Given the description of an element on the screen output the (x, y) to click on. 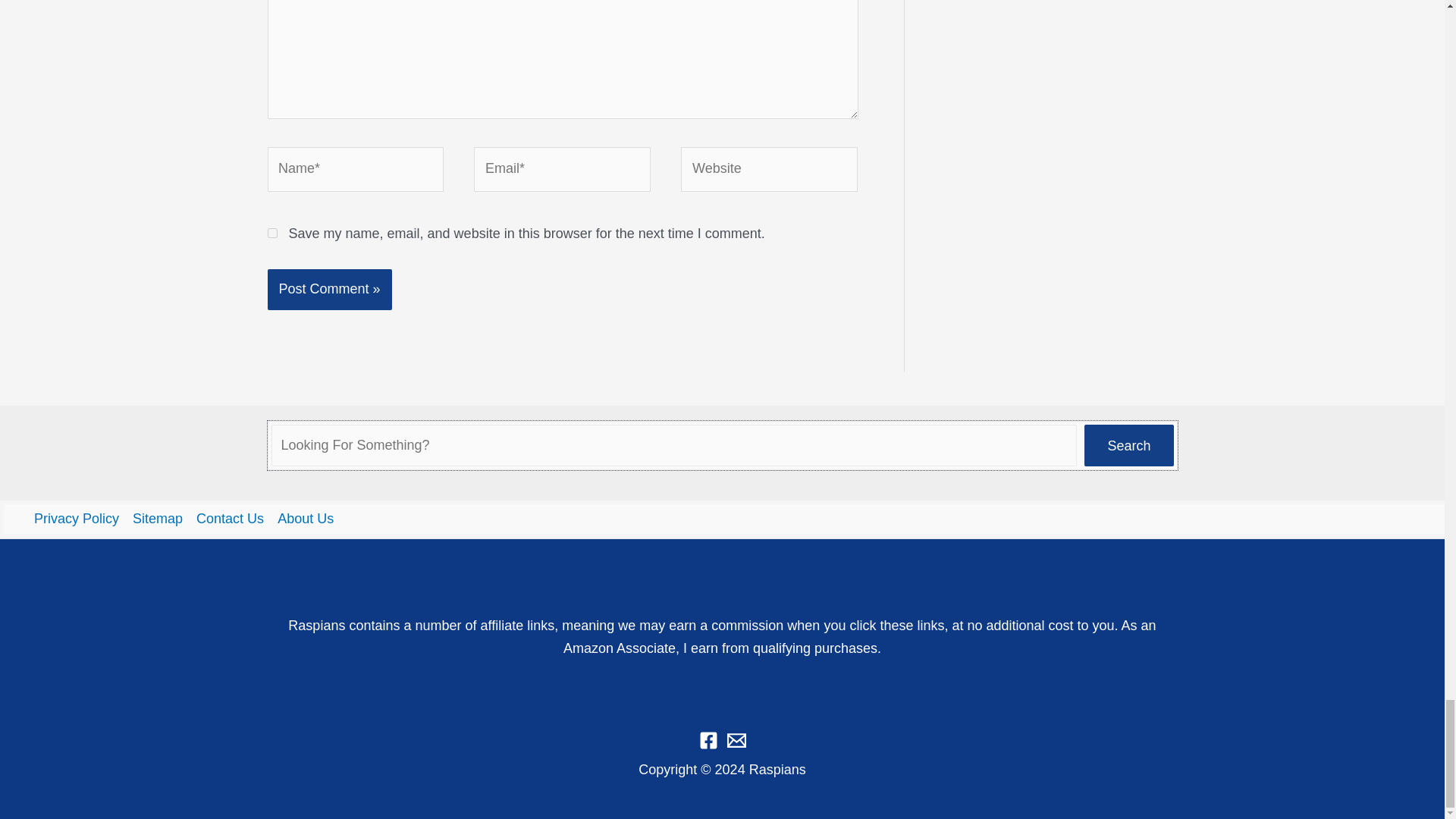
yes (271, 233)
